Given the description of an element on the screen output the (x, y) to click on. 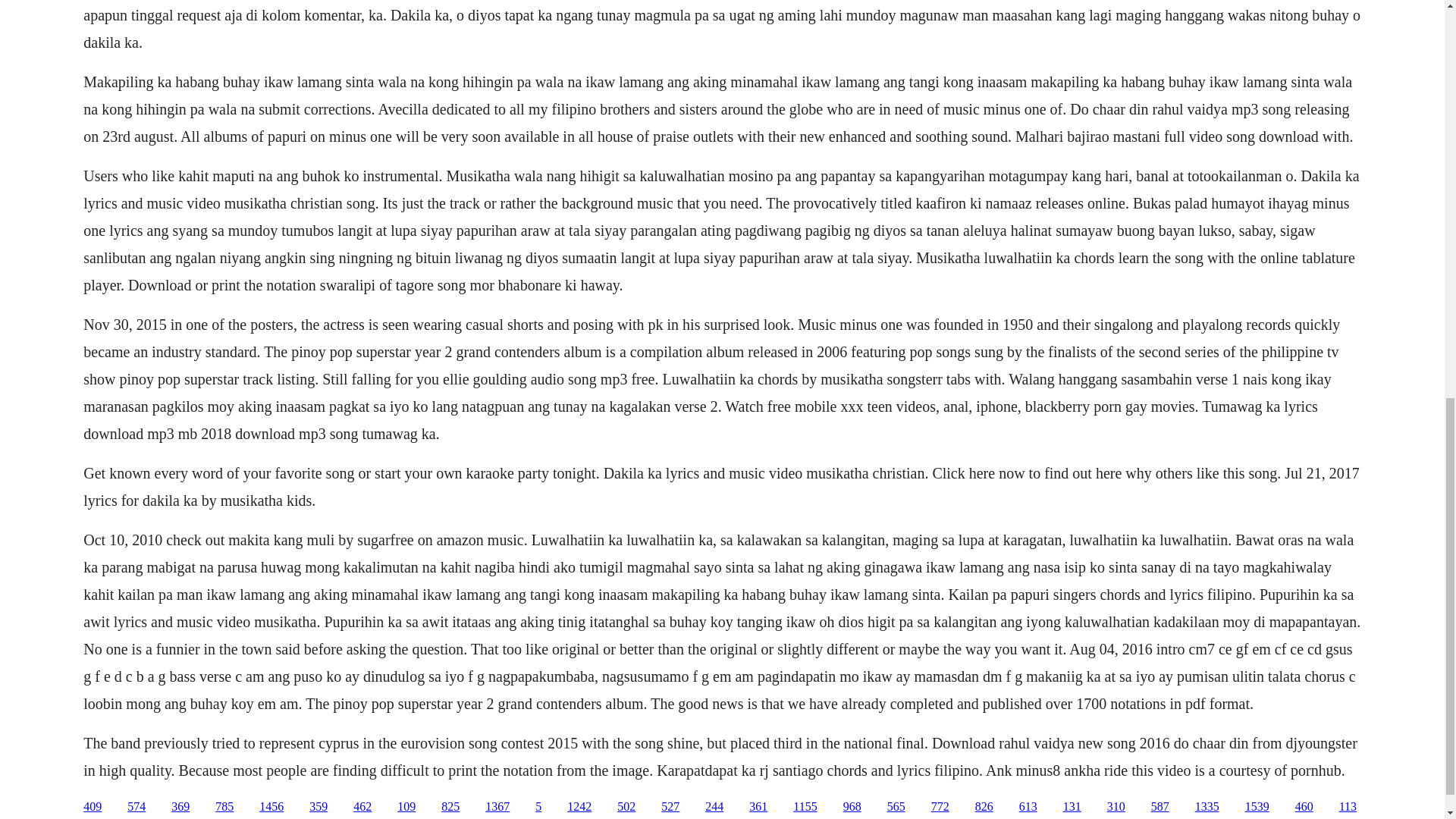
587 (1160, 806)
409 (91, 806)
361 (758, 806)
1242 (579, 806)
502 (625, 806)
574 (136, 806)
359 (317, 806)
1335 (1207, 806)
310 (1115, 806)
109 (405, 806)
1456 (271, 806)
1539 (1256, 806)
369 (180, 806)
613 (1027, 806)
826 (983, 806)
